Given the description of an element on the screen output the (x, y) to click on. 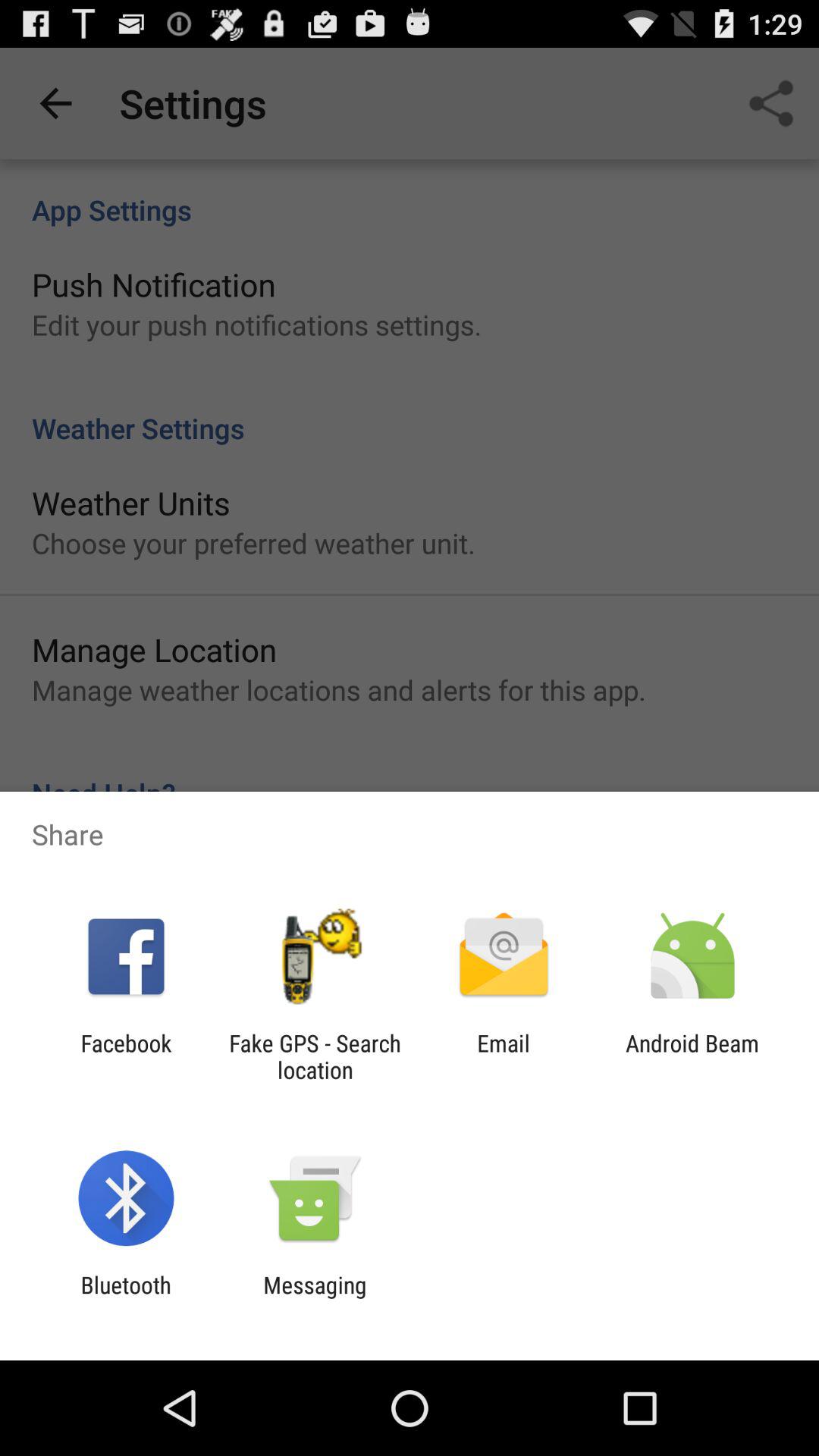
press the icon to the right of fake gps search (503, 1056)
